Given the description of an element on the screen output the (x, y) to click on. 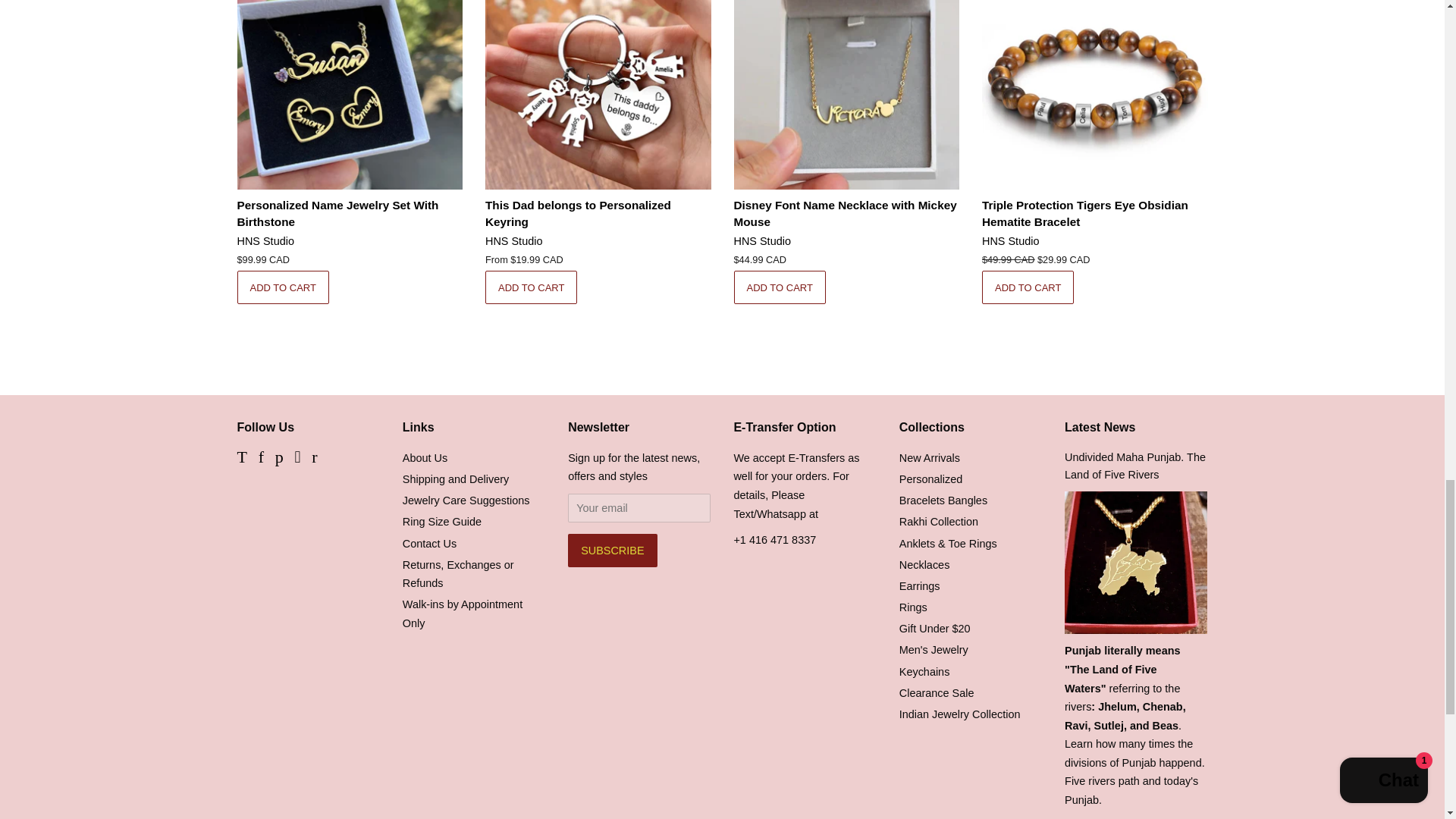
Subscribe (611, 550)
Add to cart (282, 287)
Add to cart (1027, 287)
Add to cart (779, 287)
Add to cart (530, 287)
